Given the description of an element on the screen output the (x, y) to click on. 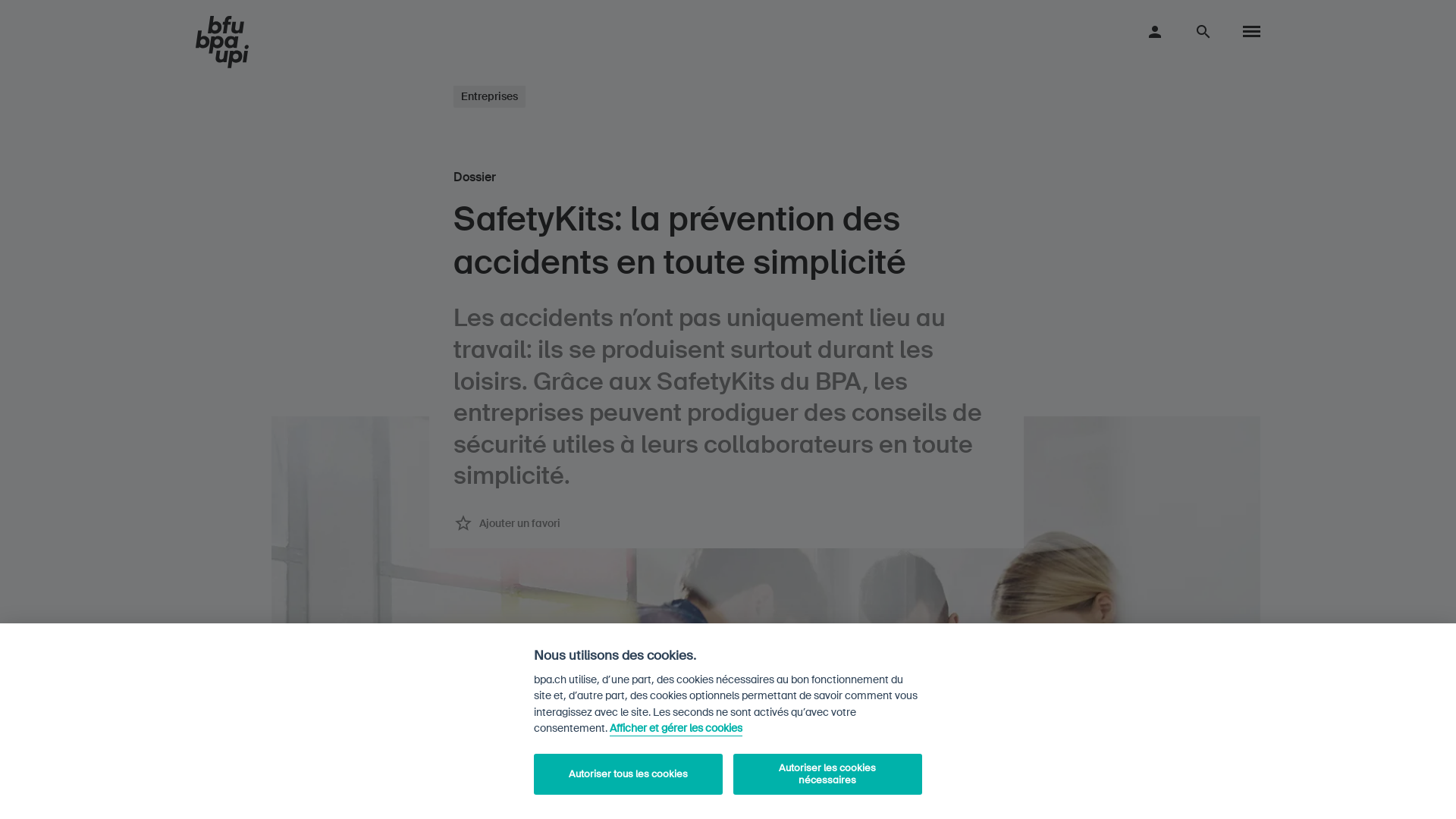
star_border
Ajouter un favori Element type: text (506, 523)
search Element type: text (1203, 30)
Entreprises Element type: text (489, 95)
person Element type: text (1154, 30)
Autoriser tous les cookies Element type: text (627, 773)
